Given the description of an element on the screen output the (x, y) to click on. 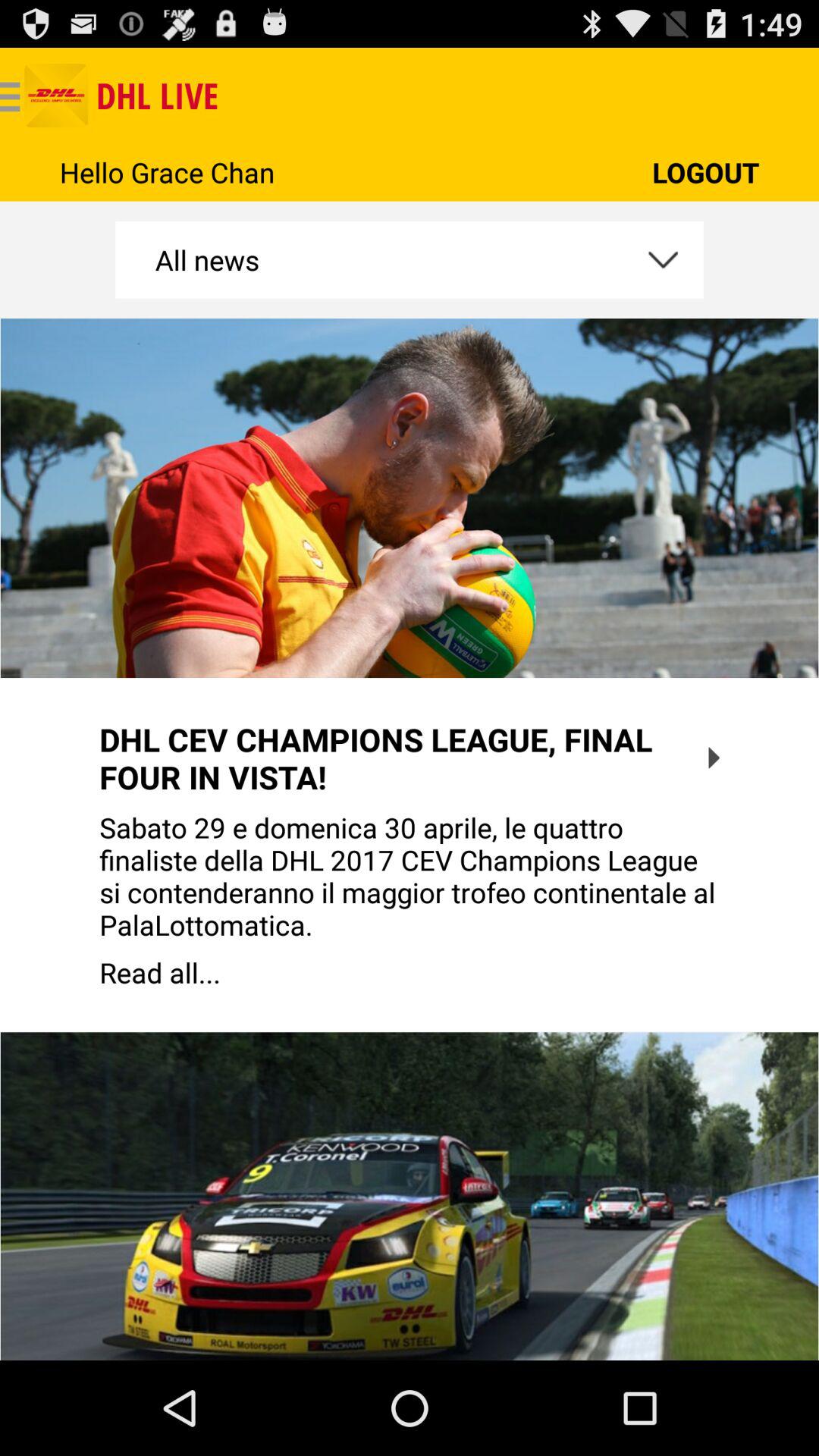
choose icon to the right of the hello grace chan icon (705, 172)
